Given the description of an element on the screen output the (x, y) to click on. 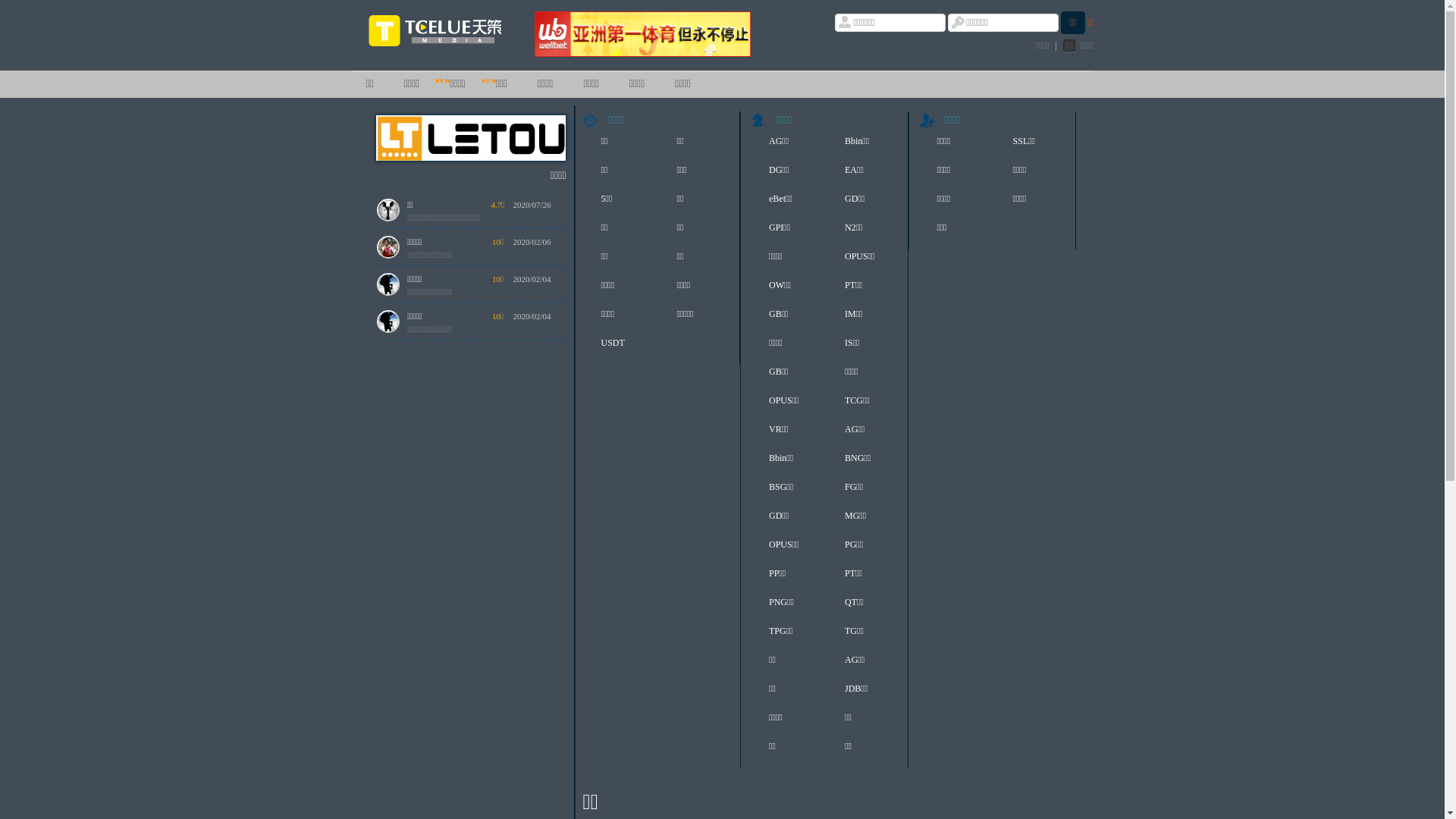
lwf Element type: text (411, 798)
ghjkop Element type: text (417, 575)
ghjkop Element type: text (417, 724)
ghjkop Element type: text (417, 687)
ghjkop Element type: text (417, 613)
USDT Element type: text (616, 346)
